Given the description of an element on the screen output the (x, y) to click on. 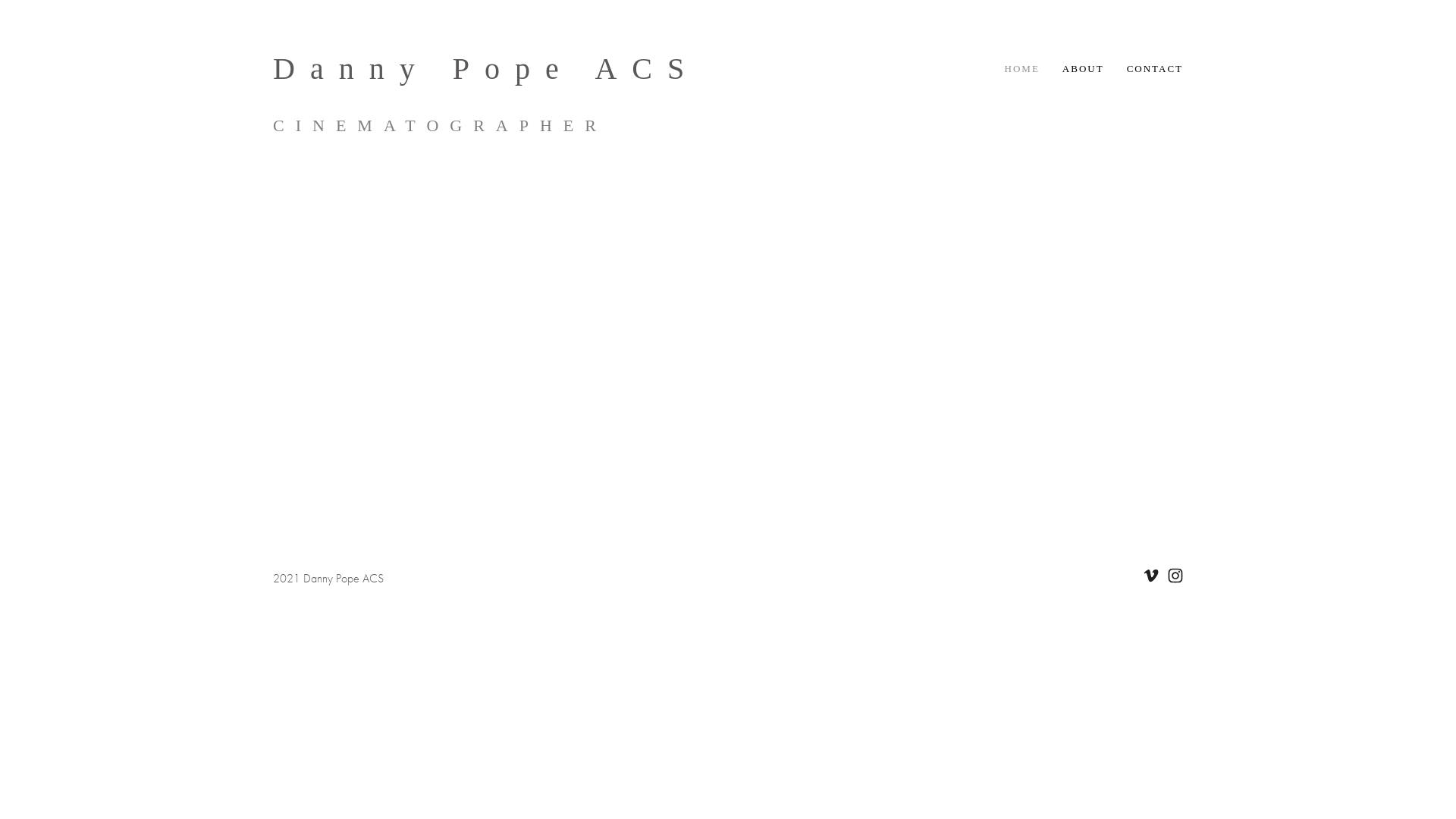
PHOTOGRAPHY Element type: text (1035, 382)
ABOUT Element type: text (1083, 68)
HOME Element type: text (1021, 68)
TABLETOP / FOOD Element type: text (727, 382)
Danny Pope ACS Element type: text (486, 68)
COMMERCIALS Element type: text (420, 382)
CONTACT Element type: text (1154, 68)
